Given the description of an element on the screen output the (x, y) to click on. 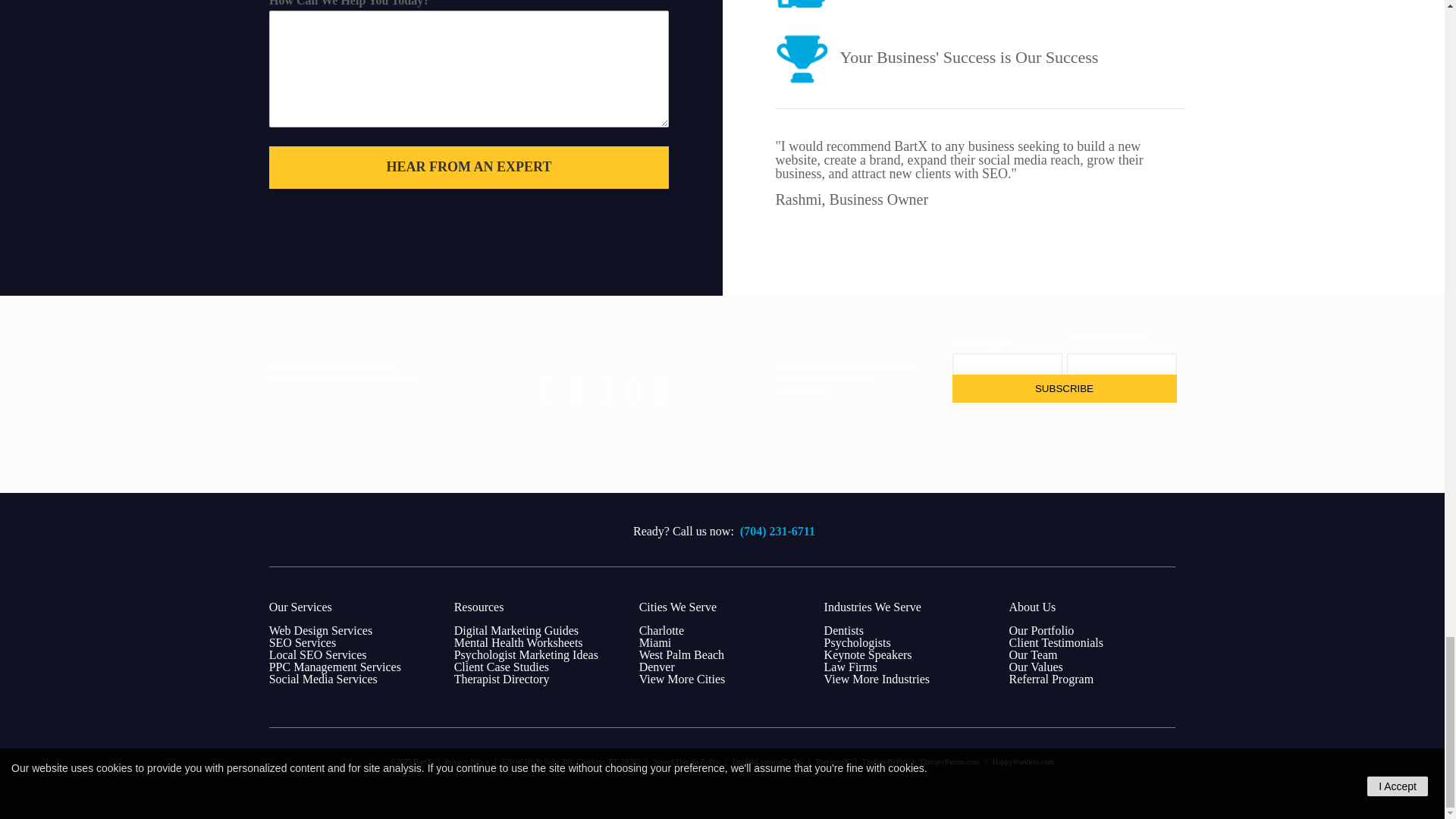
LinkedIn (722, 770)
Subscribe (1064, 388)
Instagram (763, 770)
Pinterest (743, 770)
HEAR FROM AN EXPERT (468, 167)
Facebook (680, 770)
Twitter (702, 770)
